Given the description of an element on the screen output the (x, y) to click on. 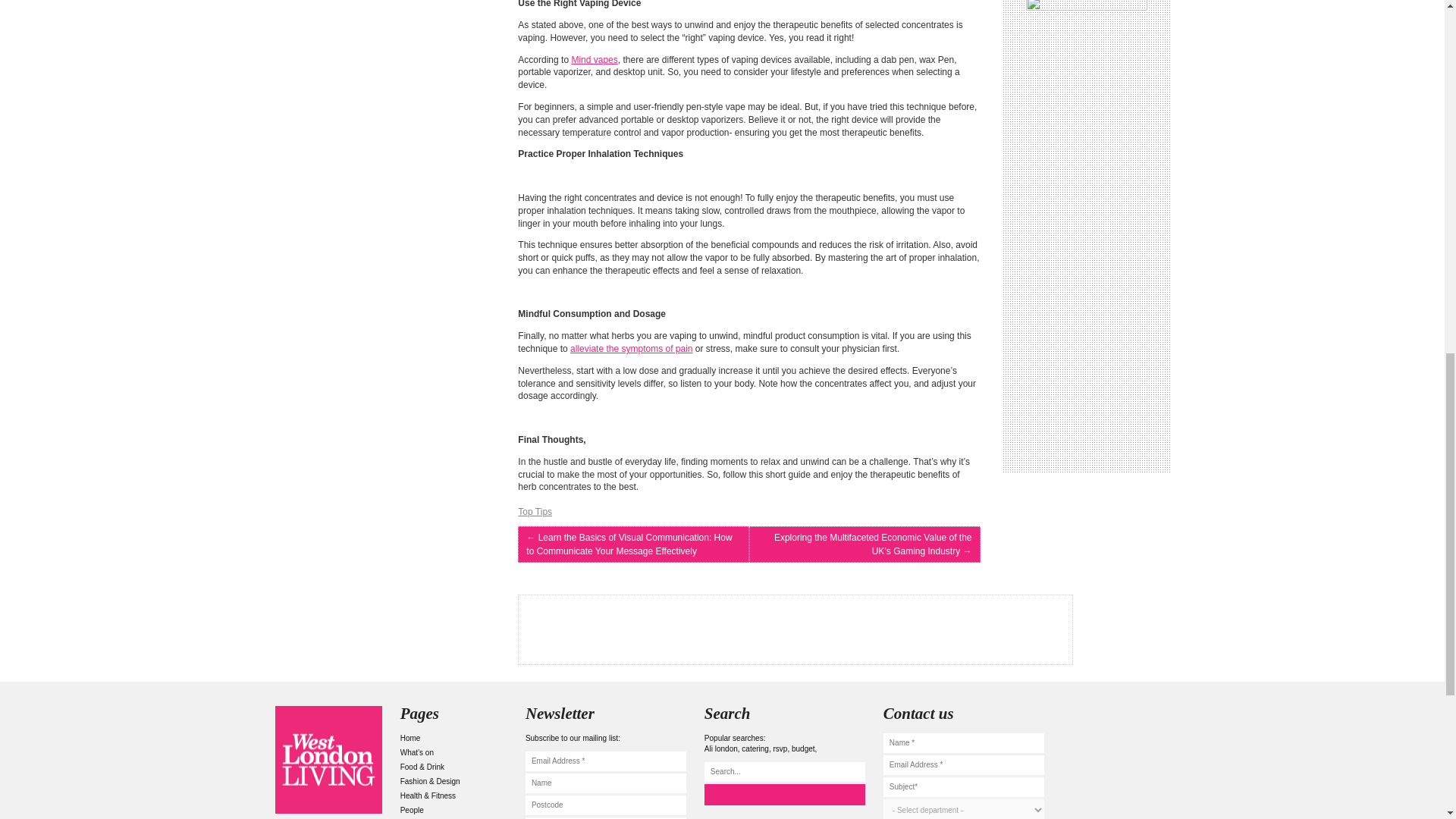
Postcode (605, 804)
Search (784, 794)
Name (605, 783)
